Given the description of an element on the screen output the (x, y) to click on. 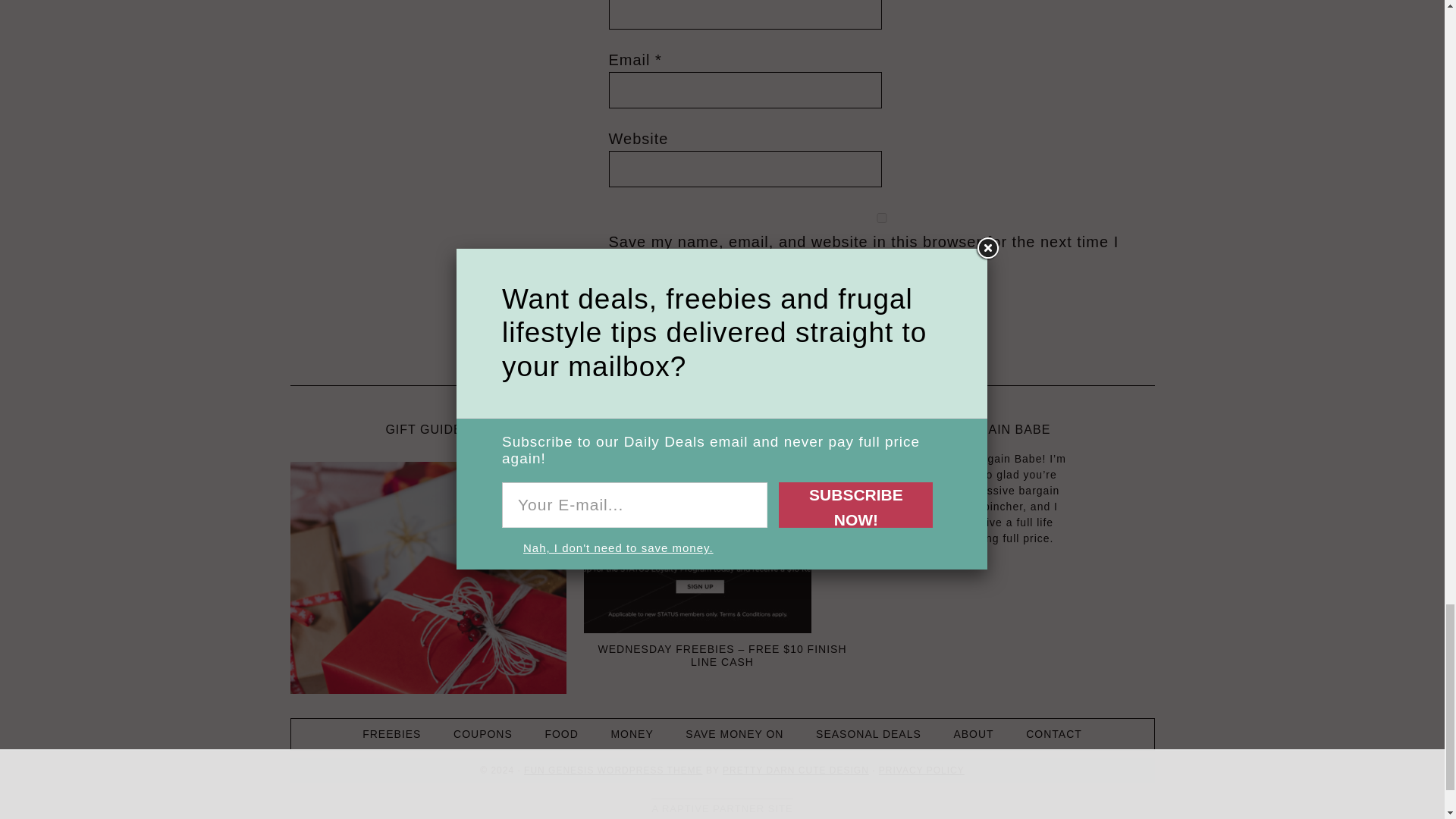
Post Comment (668, 310)
yes (881, 217)
